Given the description of an element on the screen output the (x, y) to click on. 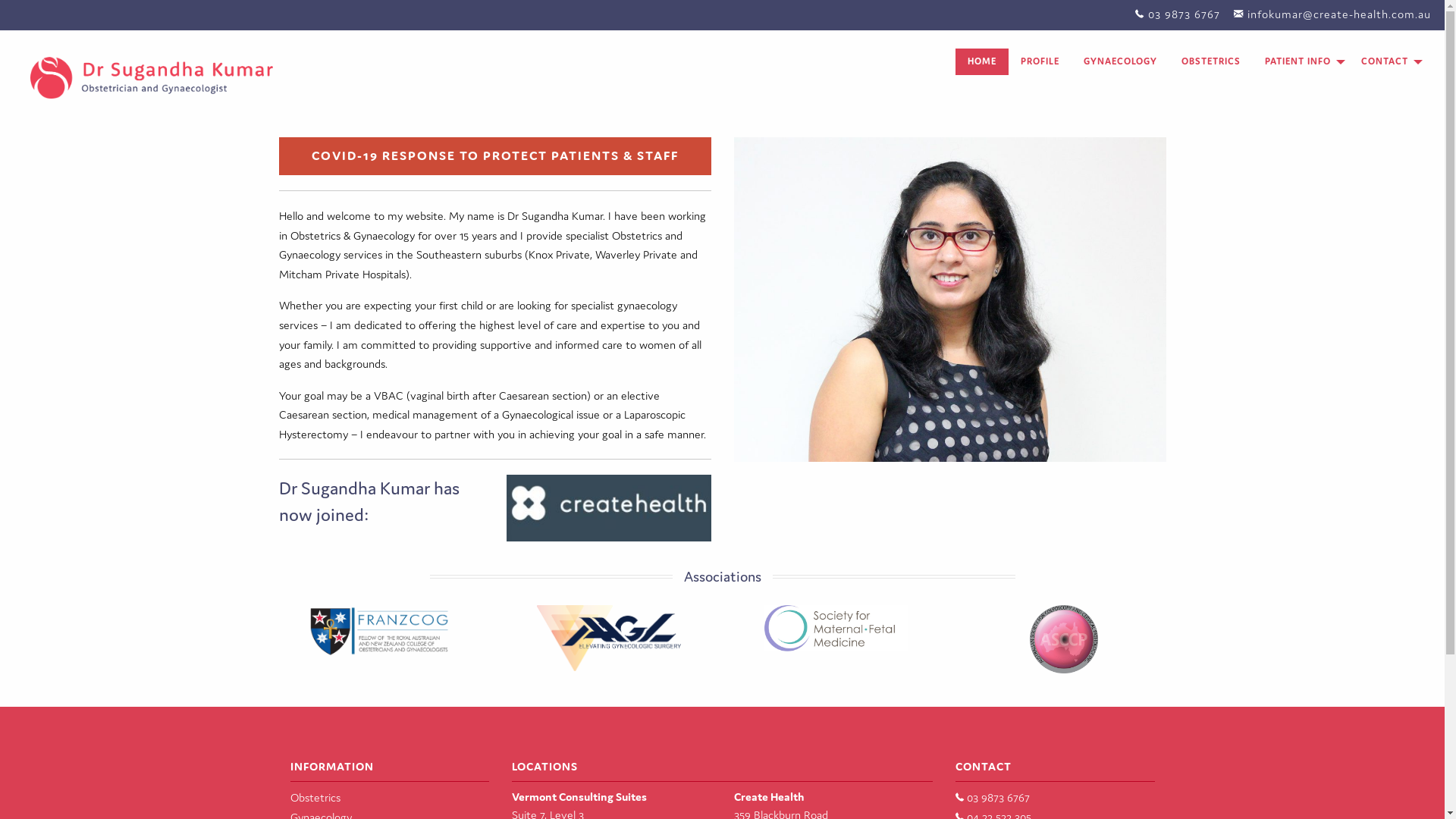
PATIENT INFO Element type: text (1300, 61)
03 9873 6767 Element type: text (992, 797)
HOME Element type: text (981, 61)
03 9873 6767 Element type: text (1184, 14)
Obstetrics Element type: text (314, 797)
OBSTETRICS Element type: text (1210, 61)
infokumar@create-health.com.au Element type: text (1338, 14)
GYNAECOLOGY Element type: text (1120, 61)
PROFILE Element type: text (1039, 61)
COVID-19 RESPONSE TO PROTECT PATIENTS & STAFF Element type: text (495, 156)
CONTACT Element type: text (1387, 61)
